Given the description of an element on the screen output the (x, y) to click on. 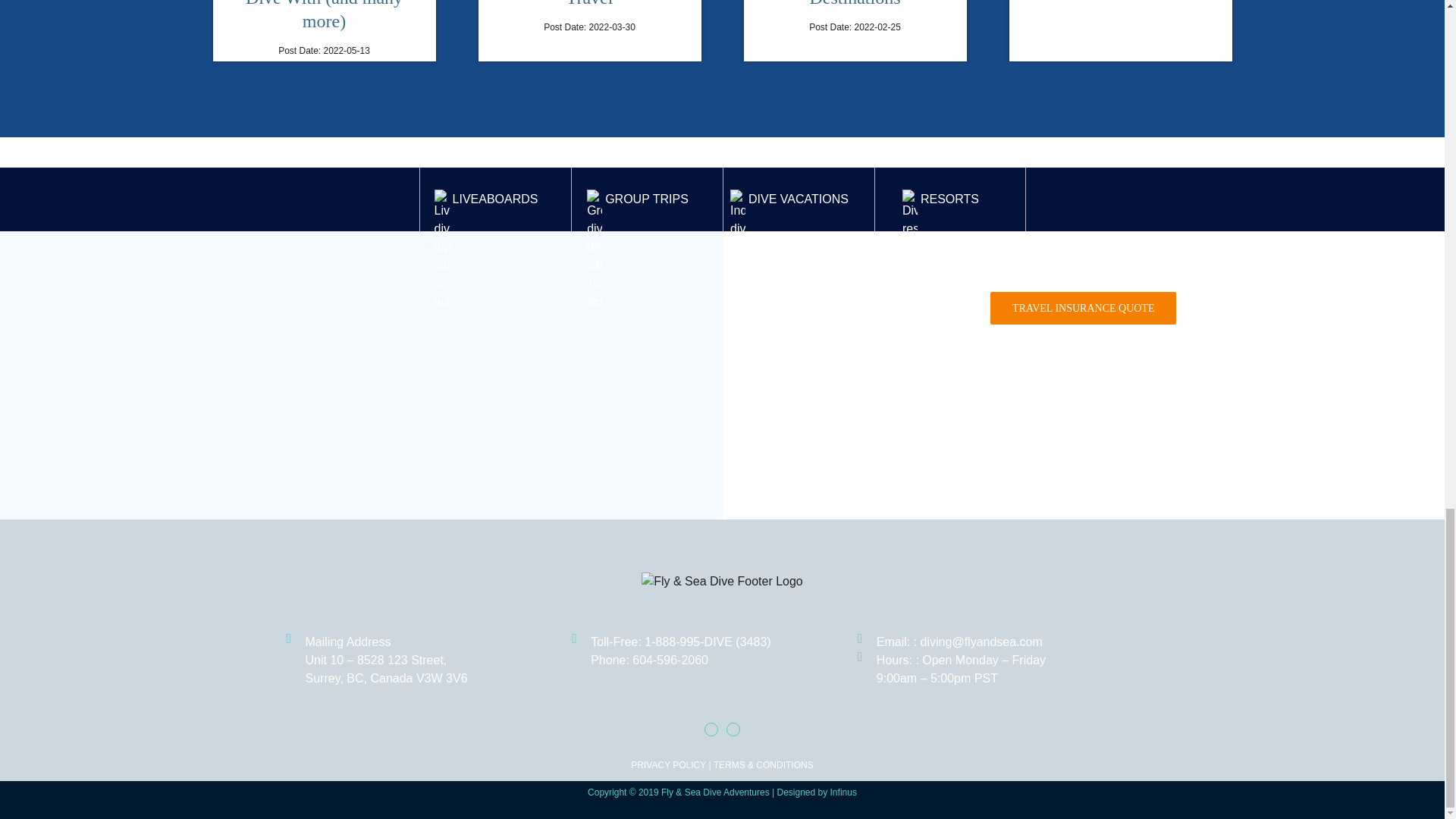
Instagram (732, 729)
The Top 25 Dive Destinations (855, 3)
Facebook (710, 729)
25 Reasons Why We Travel (589, 3)
